Given the description of an element on the screen output the (x, y) to click on. 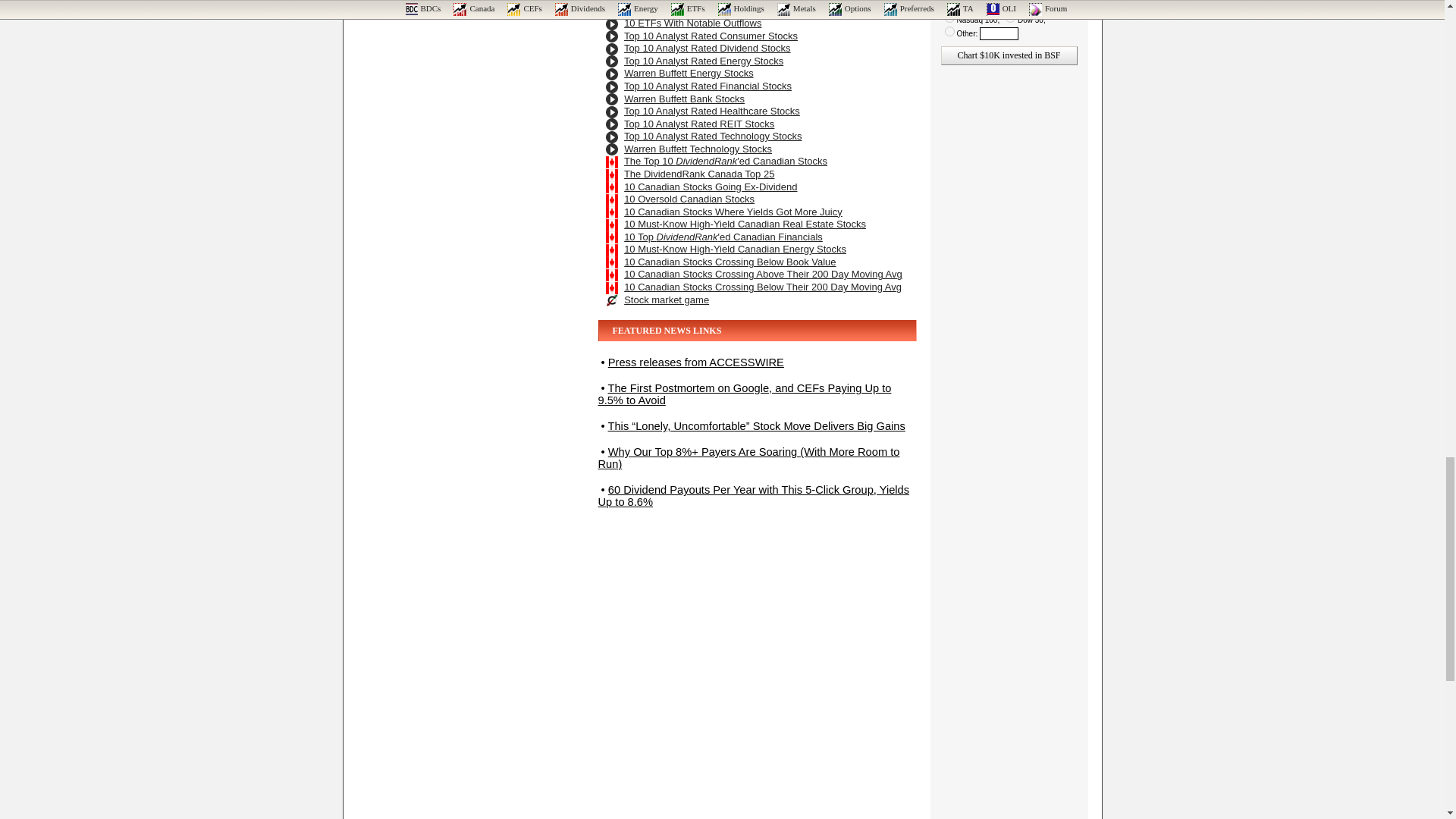
DIA (1010, 17)
QQQQ (949, 17)
other (949, 31)
SPY (1031, 4)
none (992, 4)
